Given the description of an element on the screen output the (x, y) to click on. 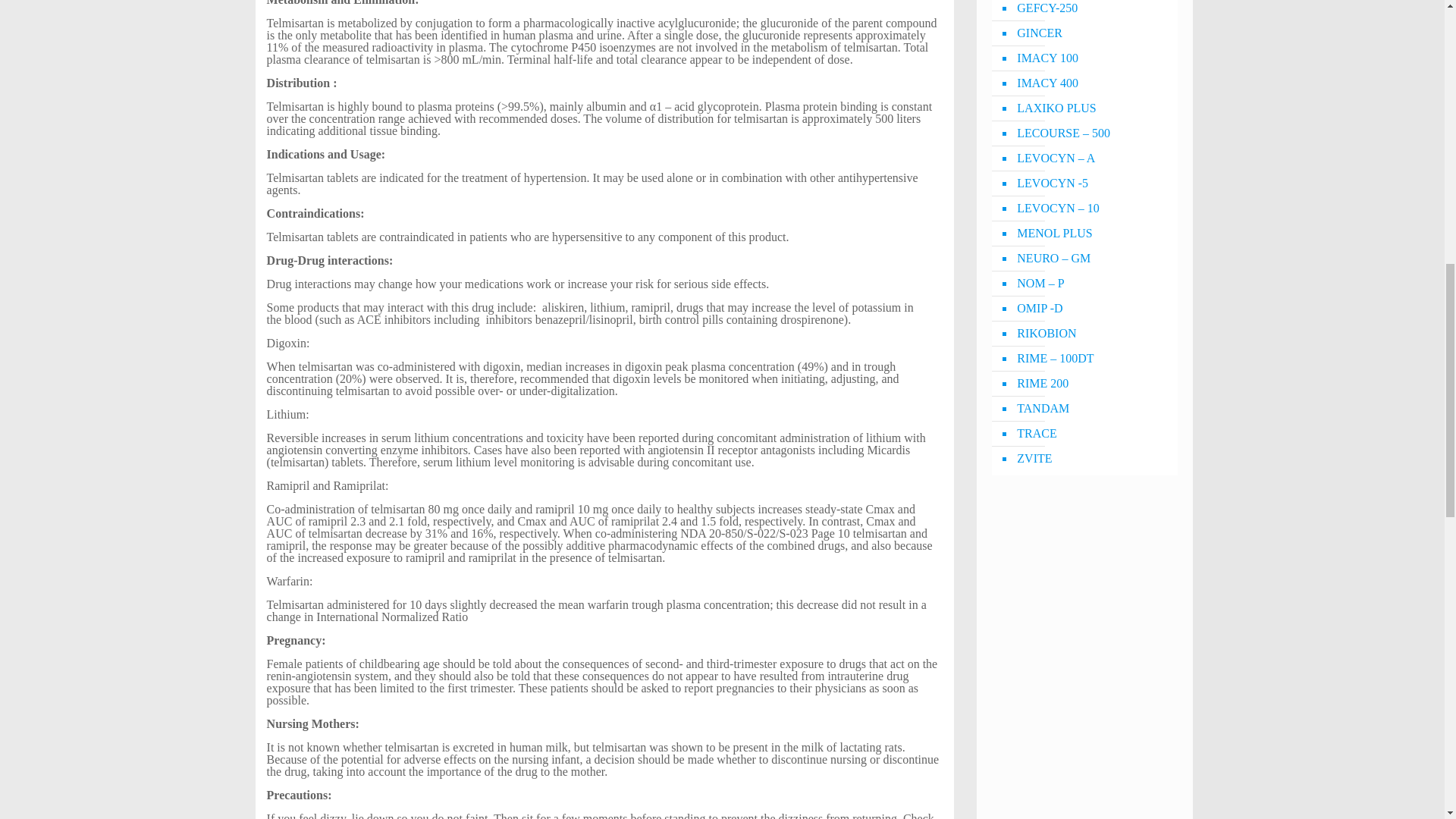
IMACY 100 (1091, 58)
GINCER (1091, 33)
GEFCY-250 (1091, 10)
